Given the description of an element on the screen output the (x, y) to click on. 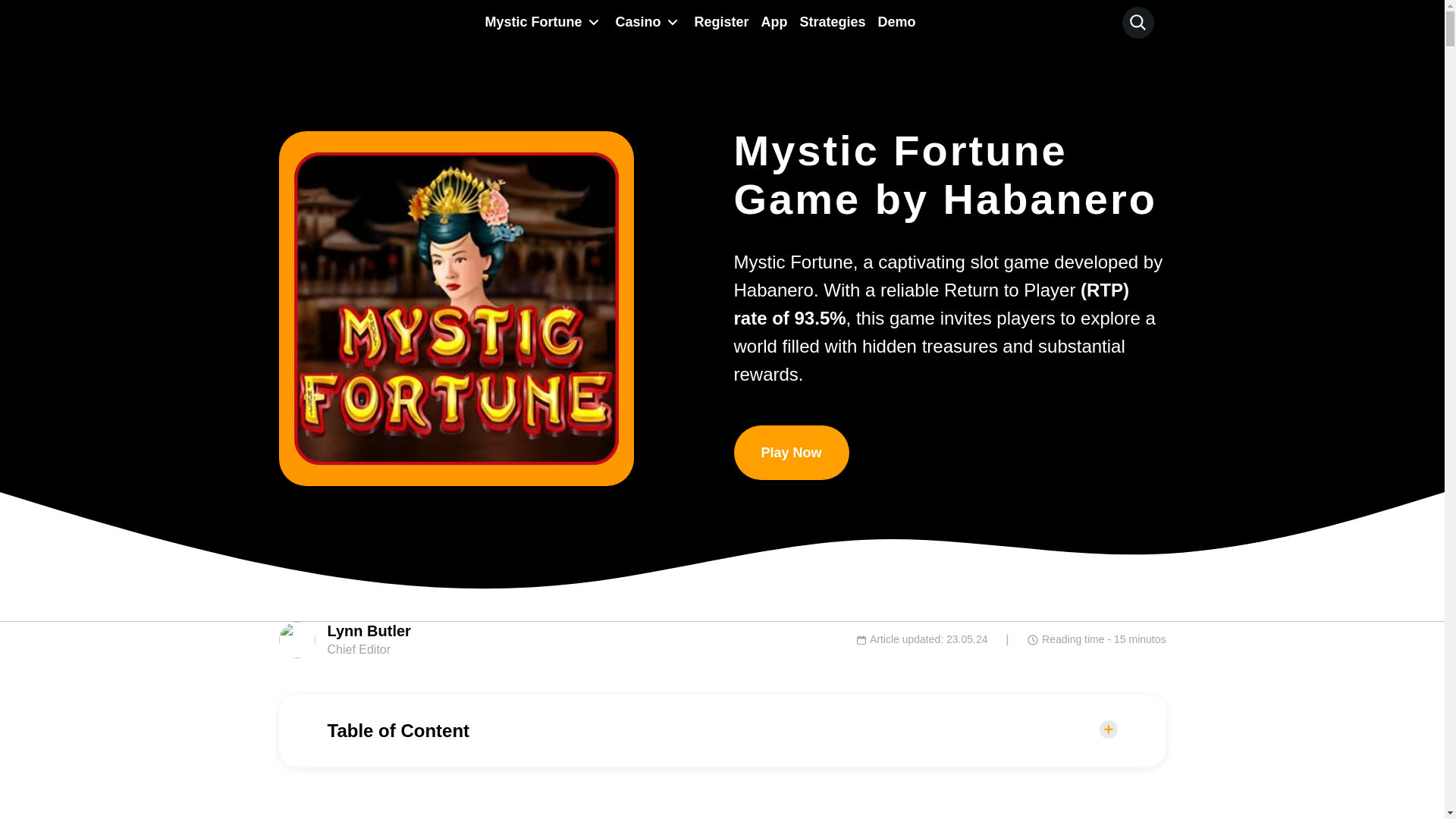
Mystic Fortune (529, 21)
Strategies (831, 21)
Table of Content (722, 730)
Play Now (790, 452)
Casino (634, 21)
Register (720, 21)
App (774, 21)
Demo (896, 21)
